Given the description of an element on the screen output the (x, y) to click on. 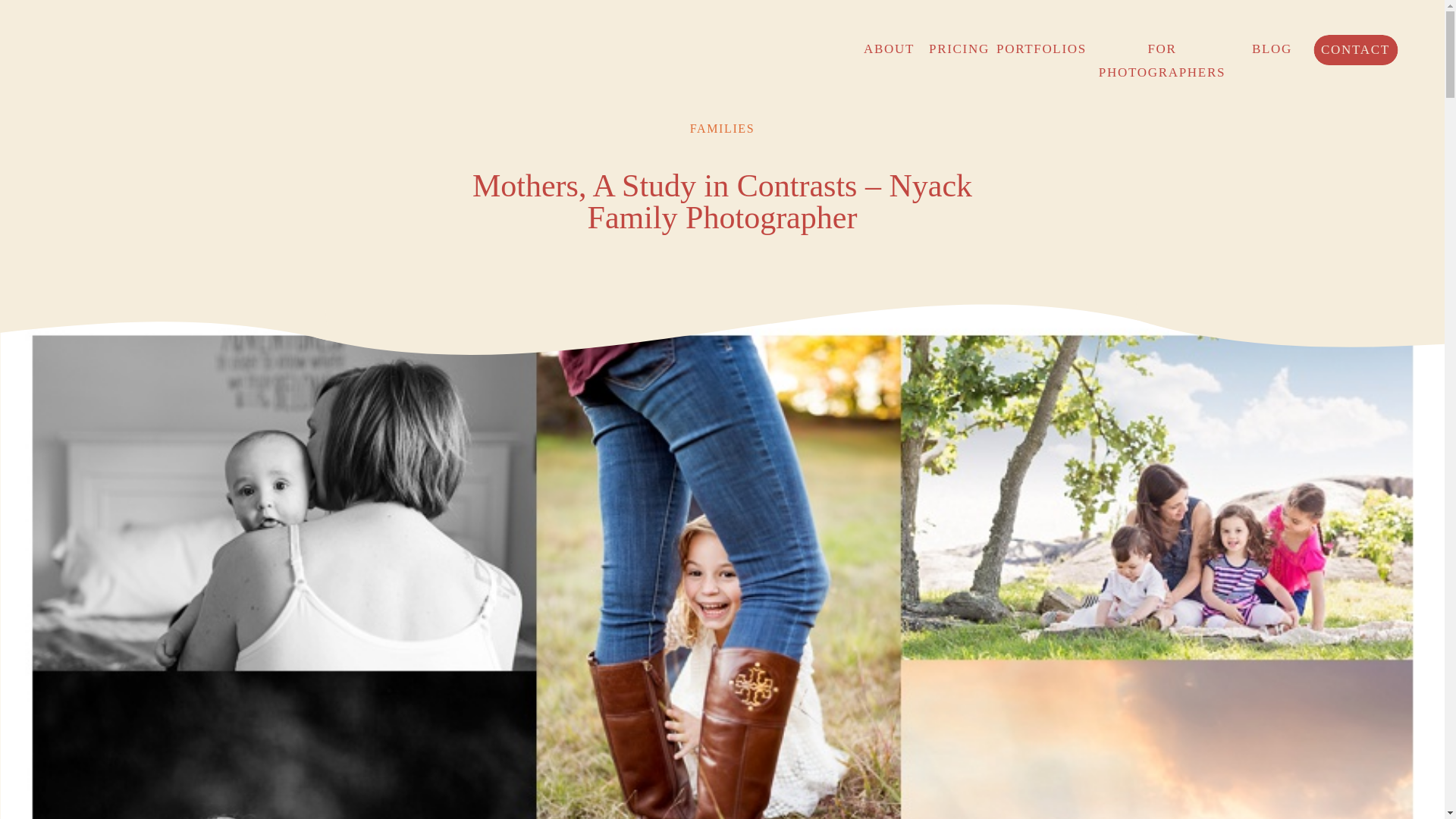
PORTFOLIOS (1036, 46)
FAMILIES (722, 128)
BLOG (1270, 46)
CONTACT (1355, 48)
ABOUT (888, 46)
FOR PHOTOGRAPHERS (1161, 47)
PRICING (953, 46)
